Given the description of an element on the screen output the (x, y) to click on. 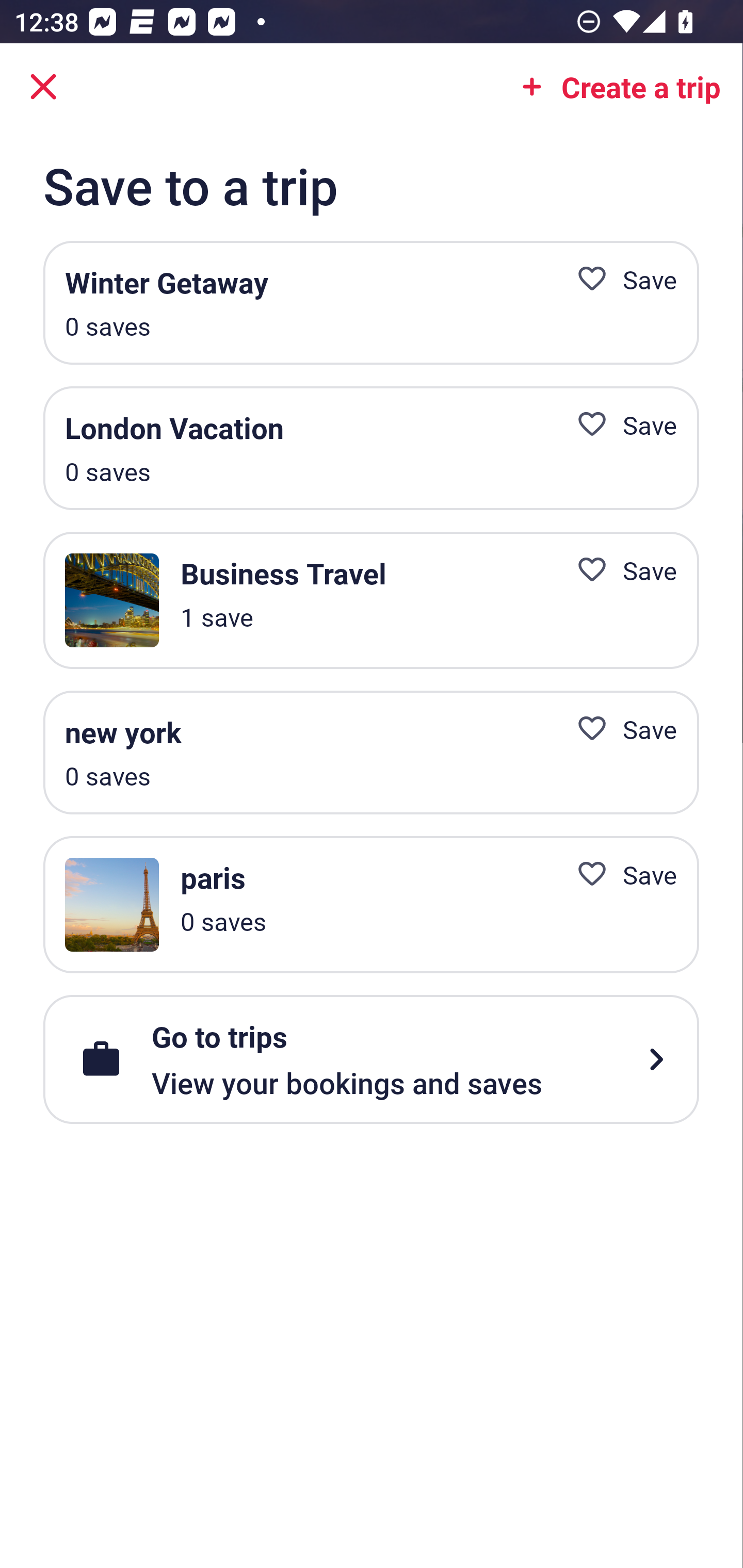
Close (43, 86)
Add Icon Create a trip (615, 86)
Favorite Icon Save (619, 279)
Winter Getaway 0 saves Favorite Icon Save (371, 303)
Favorite Icon Save (619, 424)
London Vacation 0 saves Favorite Icon Save (371, 447)
Favorite Icon Save (619, 569)
Favorite Icon Save (619, 729)
new york 0 saves Favorite Icon Save (371, 751)
Favorite Icon Save (619, 874)
